Given the description of an element on the screen output the (x, y) to click on. 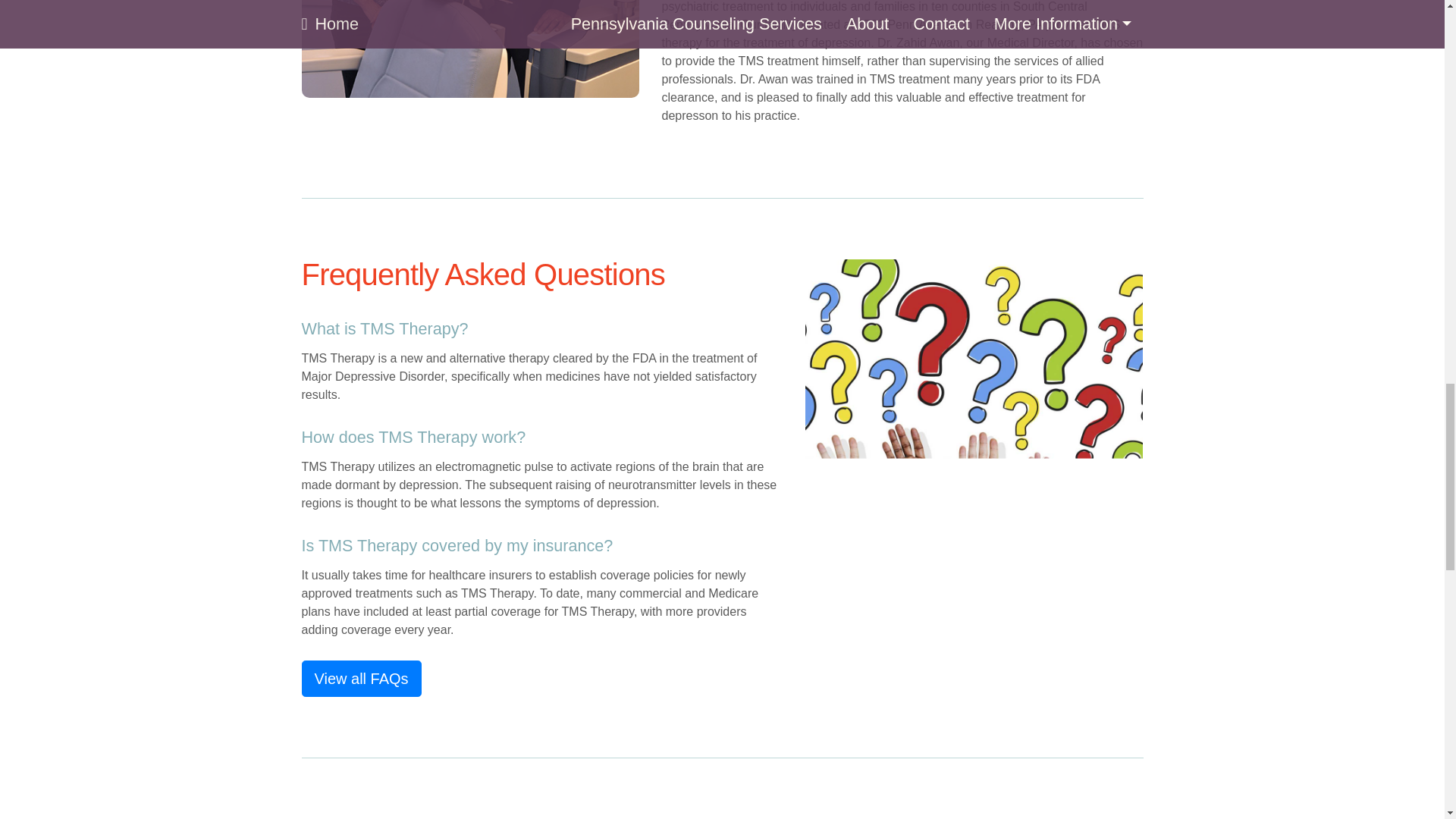
View all FAQs (361, 678)
